Given the description of an element on the screen output the (x, y) to click on. 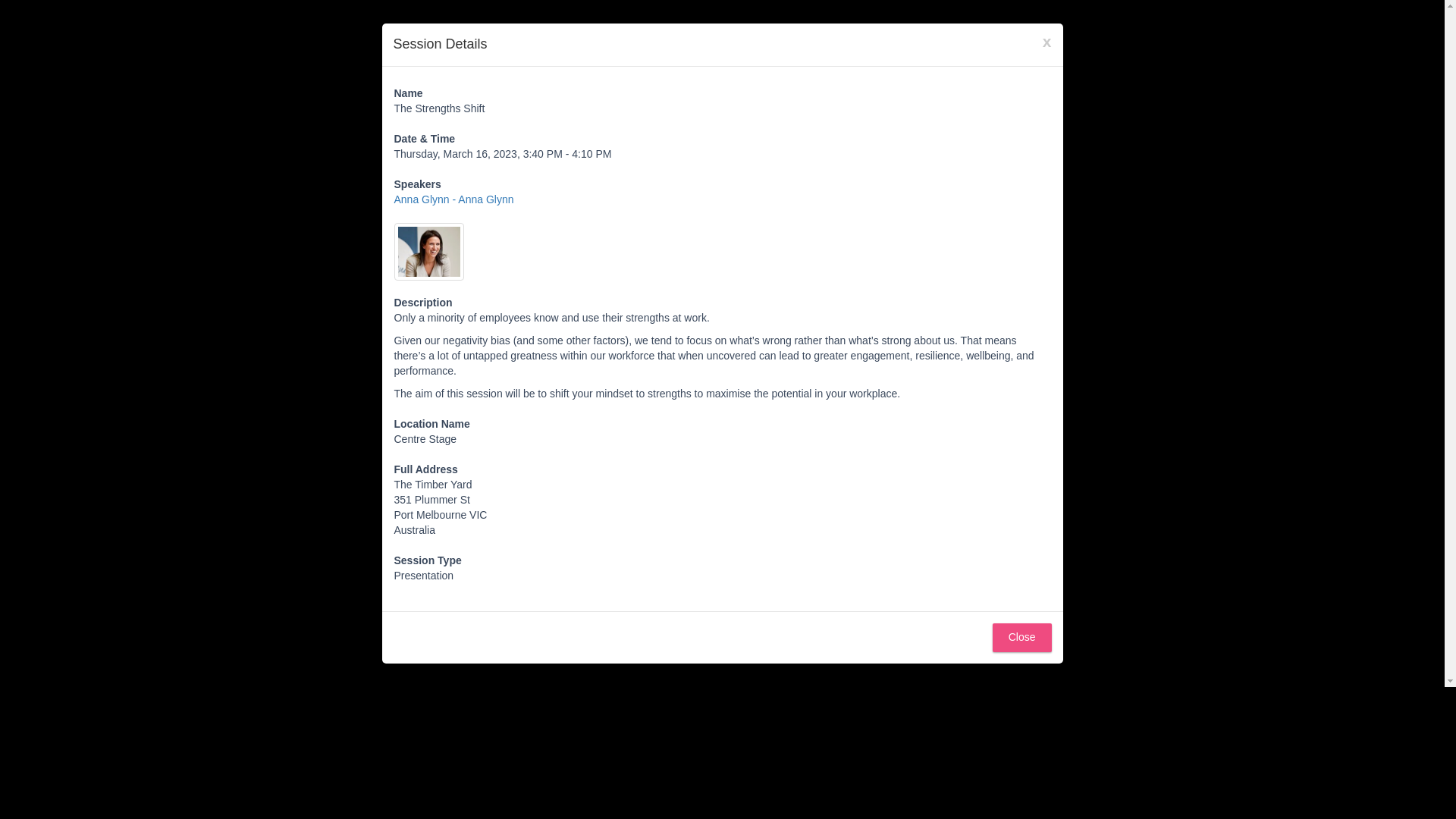
Anna Glynn - Anna Glynn (453, 199)
Speaker Details (453, 199)
Close (1021, 637)
